Given the description of an element on the screen output the (x, y) to click on. 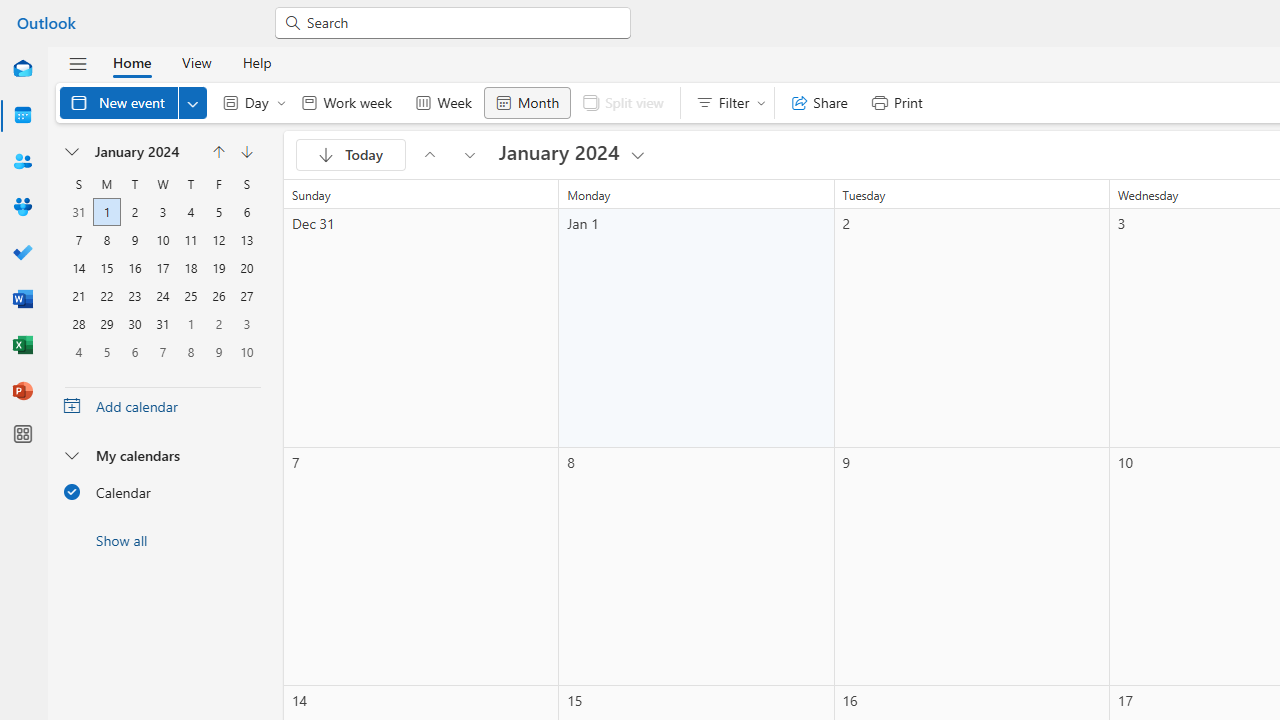
28, January, 2024 (78, 323)
Saturday (246, 183)
6, January, 2024 (246, 212)
Go to previous month December 2023 (429, 154)
6, February, 2024 (134, 351)
Split view (622, 102)
13, January, 2024 (246, 239)
10, February, 2024 (246, 351)
Expand to see more Day options (281, 102)
7, February, 2024 (163, 351)
17, January, 2024 (162, 268)
New event (133, 102)
31, December, 2023 (78, 211)
Hide navigation pane (77, 63)
Thursday (190, 183)
